Given the description of an element on the screen output the (x, y) to click on. 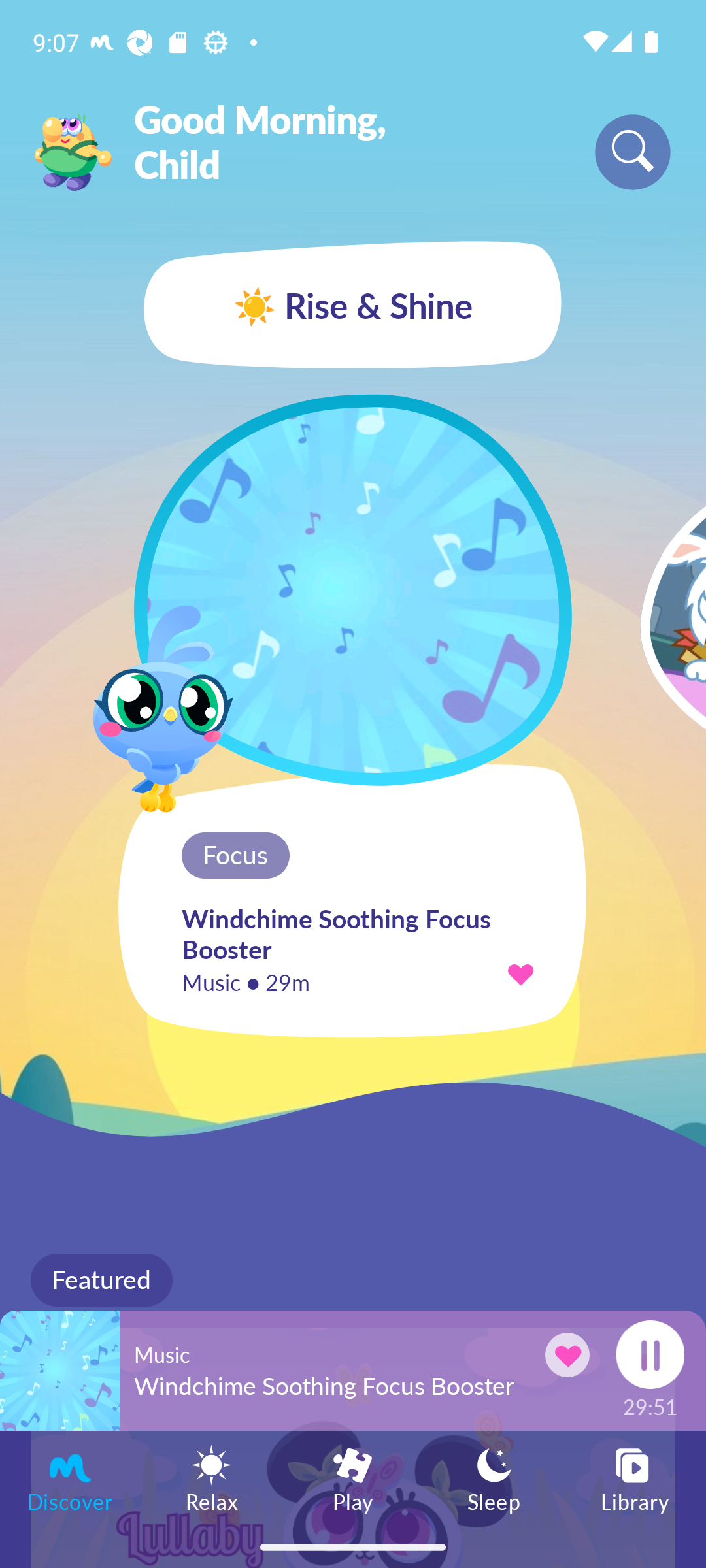
Search (632, 151)
action (520, 973)
Music Windchime Soothing Focus Booster 29:52 (353, 1370)
Relax (211, 1478)
Play (352, 1478)
Sleep (493, 1478)
Library (635, 1478)
